Given the description of an element on the screen output the (x, y) to click on. 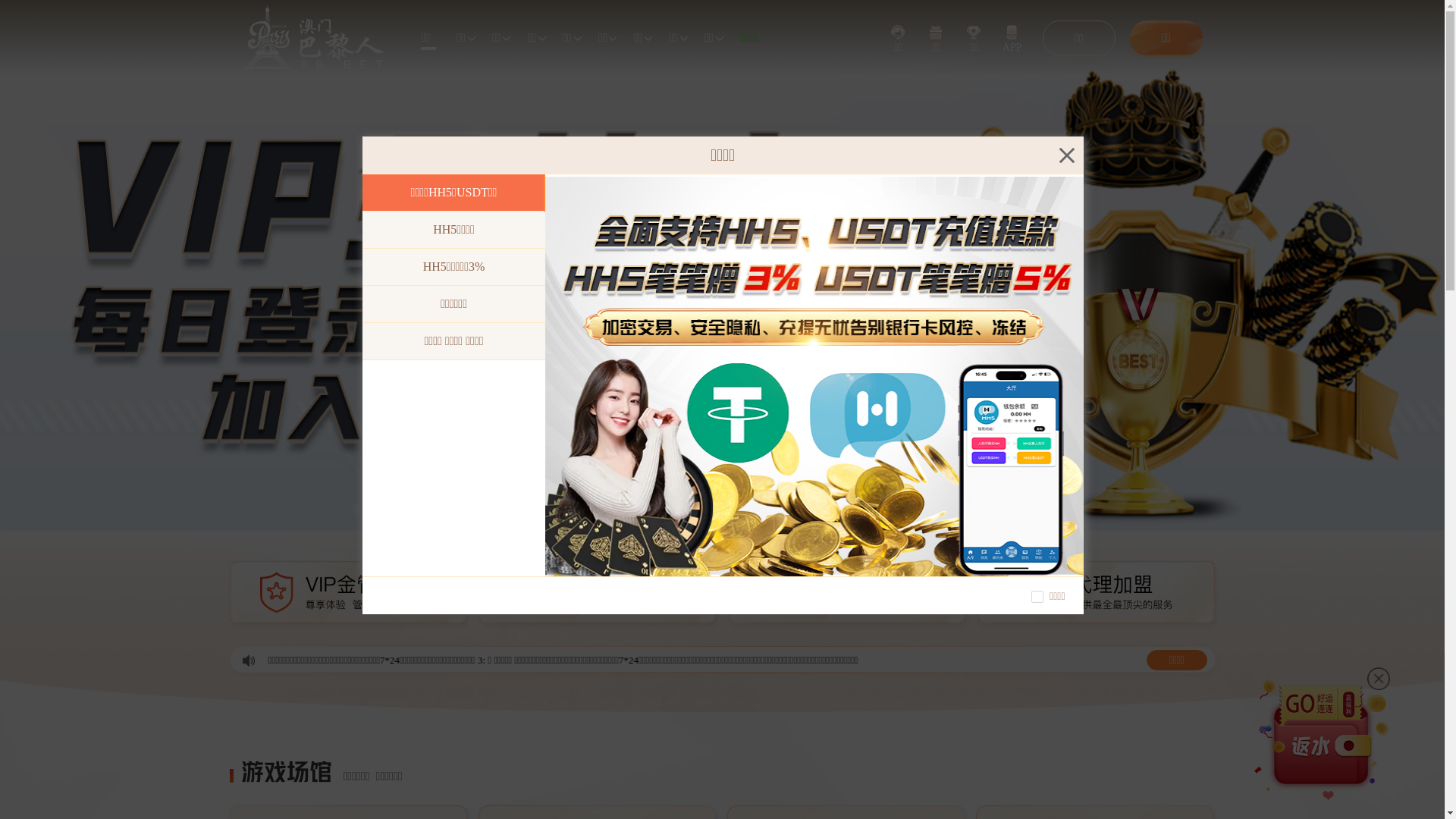
4 Element type: text (747, 520)
2 Element type: text (711, 520)
APP Element type: text (1012, 37)
1 Element type: text (696, 520)
3 Element type: text (729, 520)
